Given the description of an element on the screen output the (x, y) to click on. 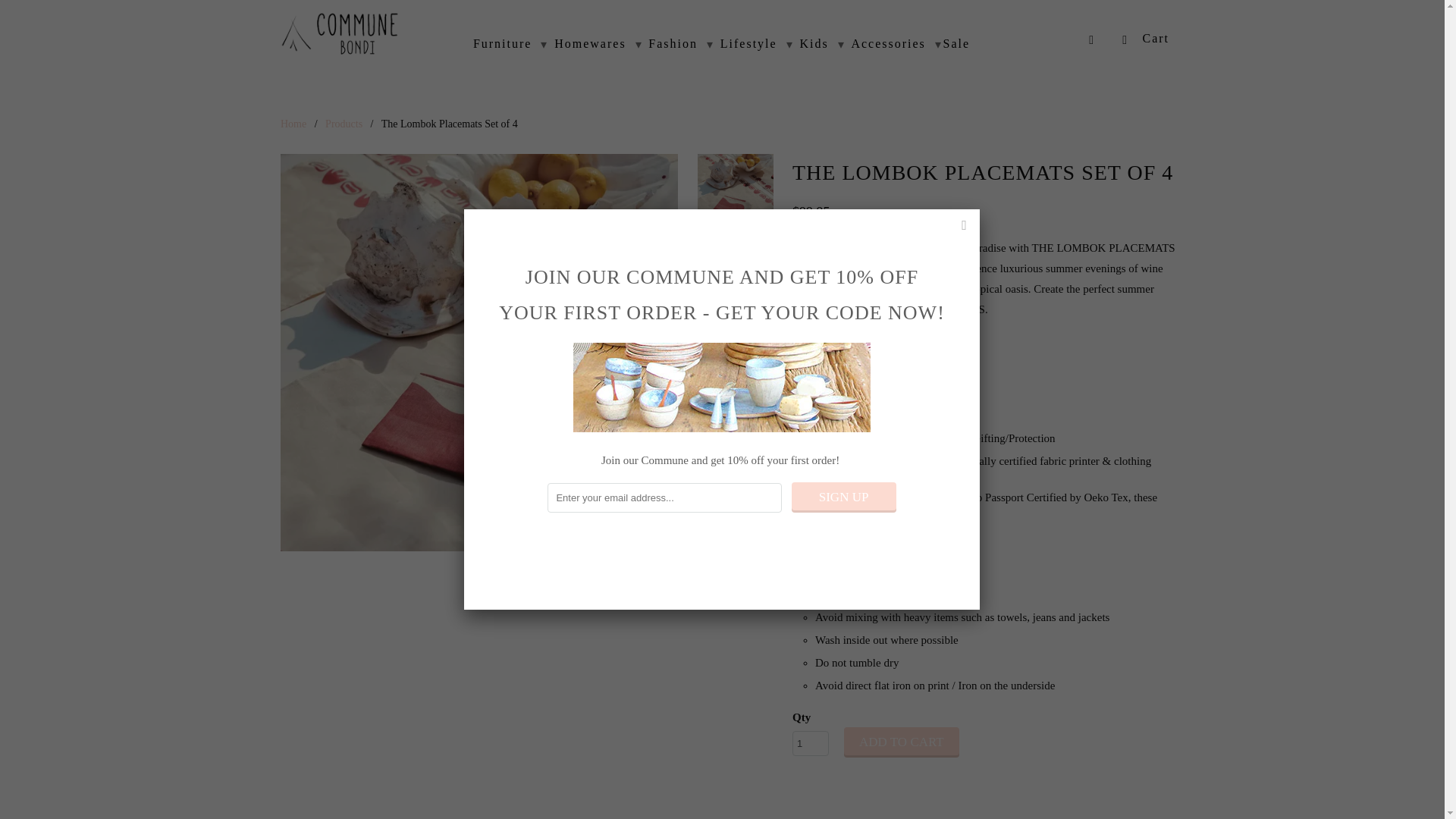
Sign Up (844, 497)
Commune Bondi (293, 123)
Products (343, 123)
1 (810, 743)
